Given the description of an element on the screen output the (x, y) to click on. 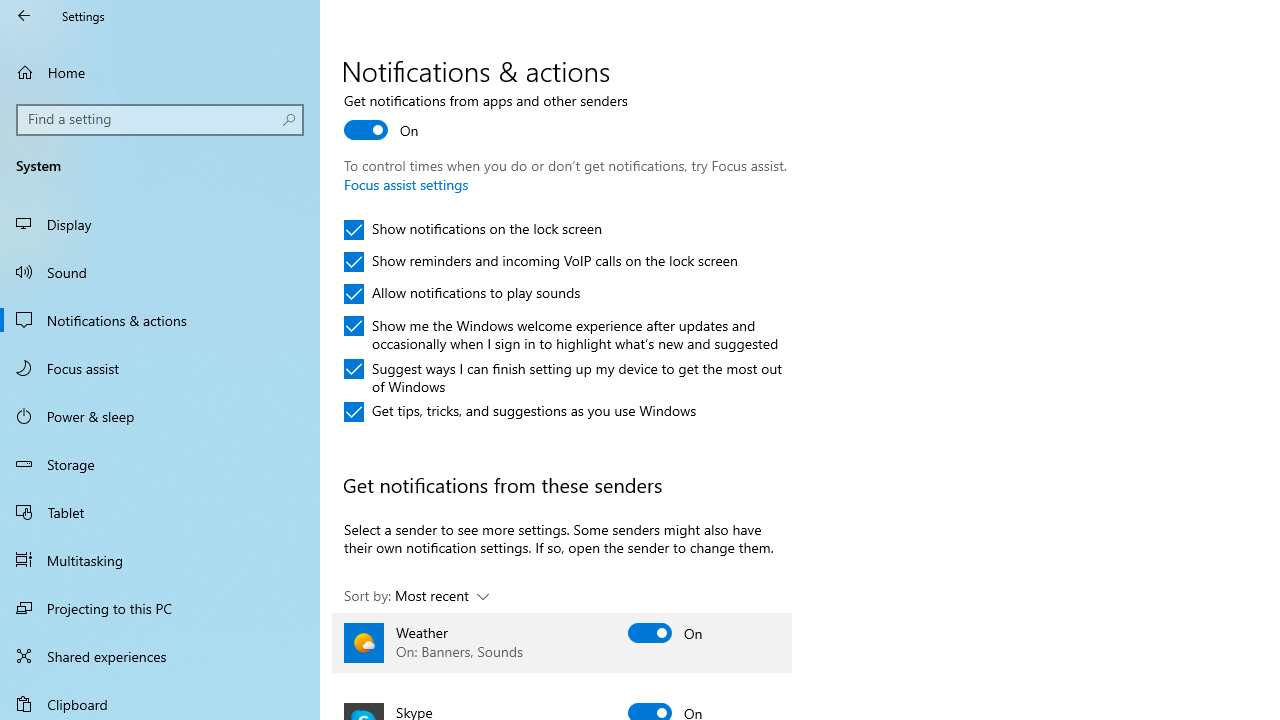
Search box, Find a setting (160, 119)
Show notifications on the lock screen (473, 229)
Storage (160, 463)
Sort by: Most recent (416, 596)
Edit your quick actions (413, 2)
Show reminders and incoming VoIP calls on the lock screen (541, 261)
Focus assist (160, 367)
Display (160, 223)
Notifications & actions (160, 319)
Allow notifications to play sounds (462, 293)
Focus assist settings (406, 183)
Multitasking (160, 559)
Tablet (160, 511)
